Given the description of an element on the screen output the (x, y) to click on. 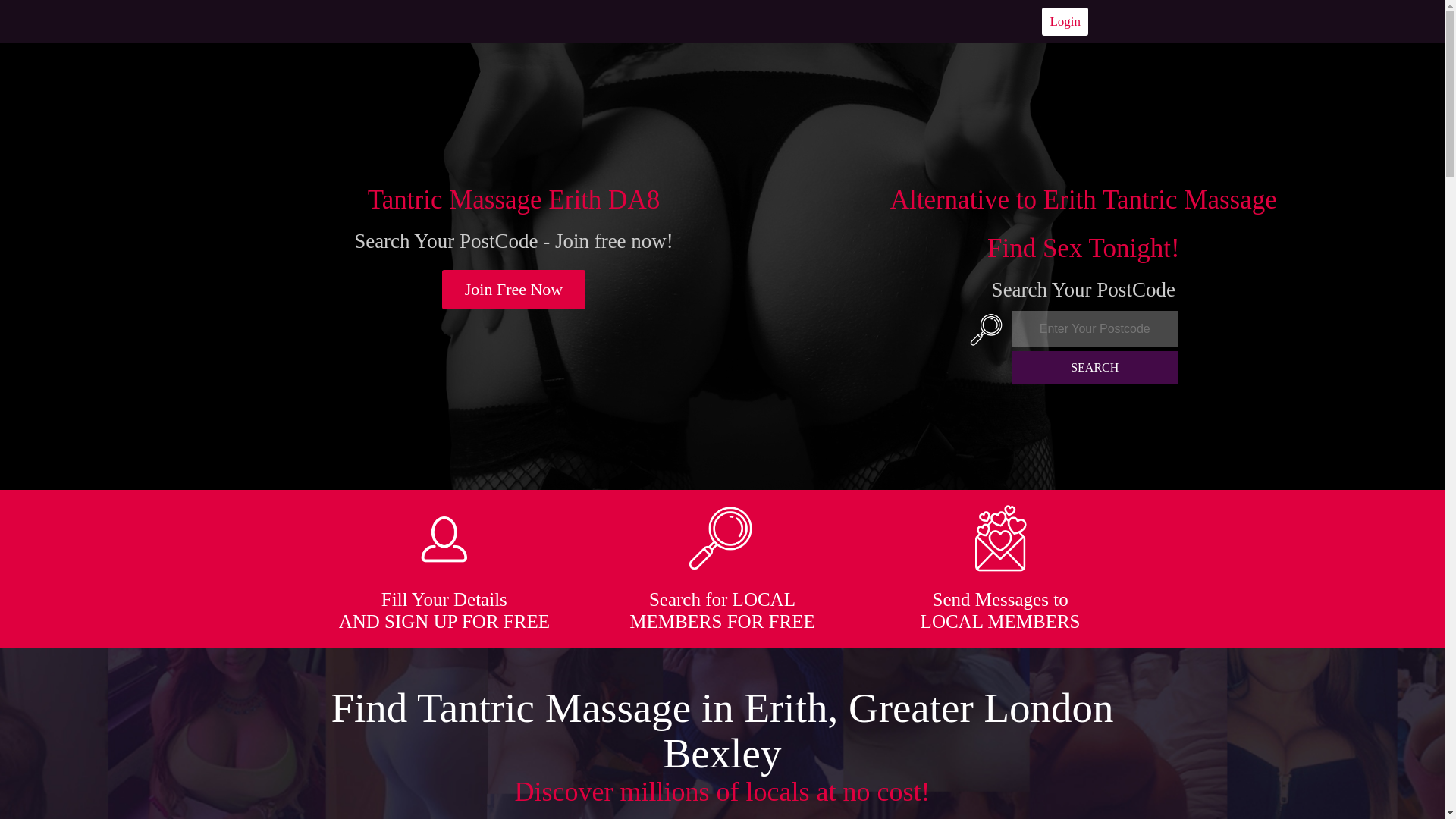
SEARCH (1094, 367)
Login (1064, 21)
Login (1064, 21)
Join Free Now (514, 289)
Join (514, 289)
